Given the description of an element on the screen output the (x, y) to click on. 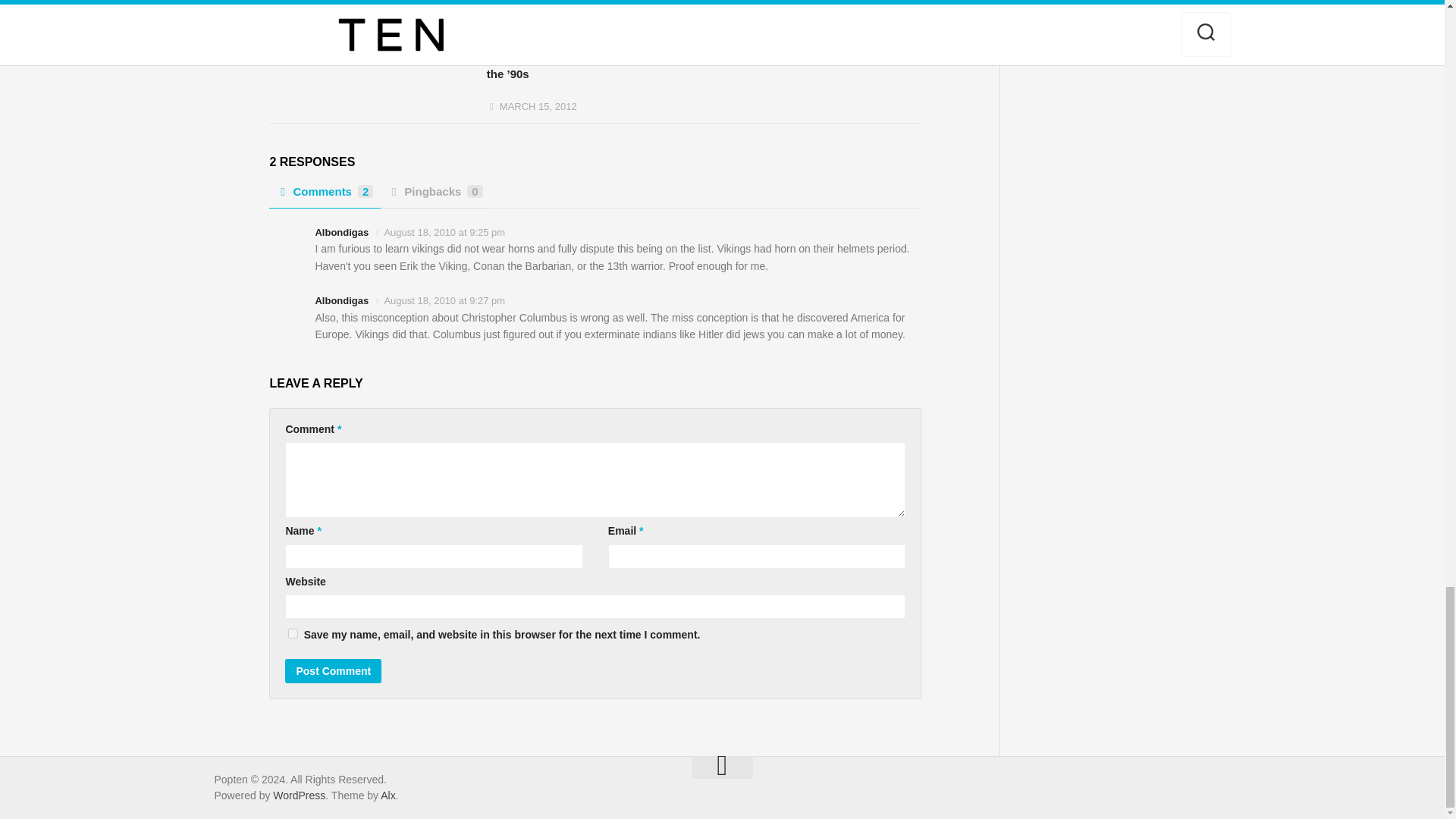
August 18, 2010 at 9:27 pm (444, 300)
Post Comment (333, 671)
Alx (387, 795)
Comments2 (324, 196)
yes (293, 633)
August 18, 2010 at 9:25 pm (444, 232)
Pingbacks0 (434, 196)
WordPress (298, 795)
Post Comment (333, 671)
